Given the description of an element on the screen output the (x, y) to click on. 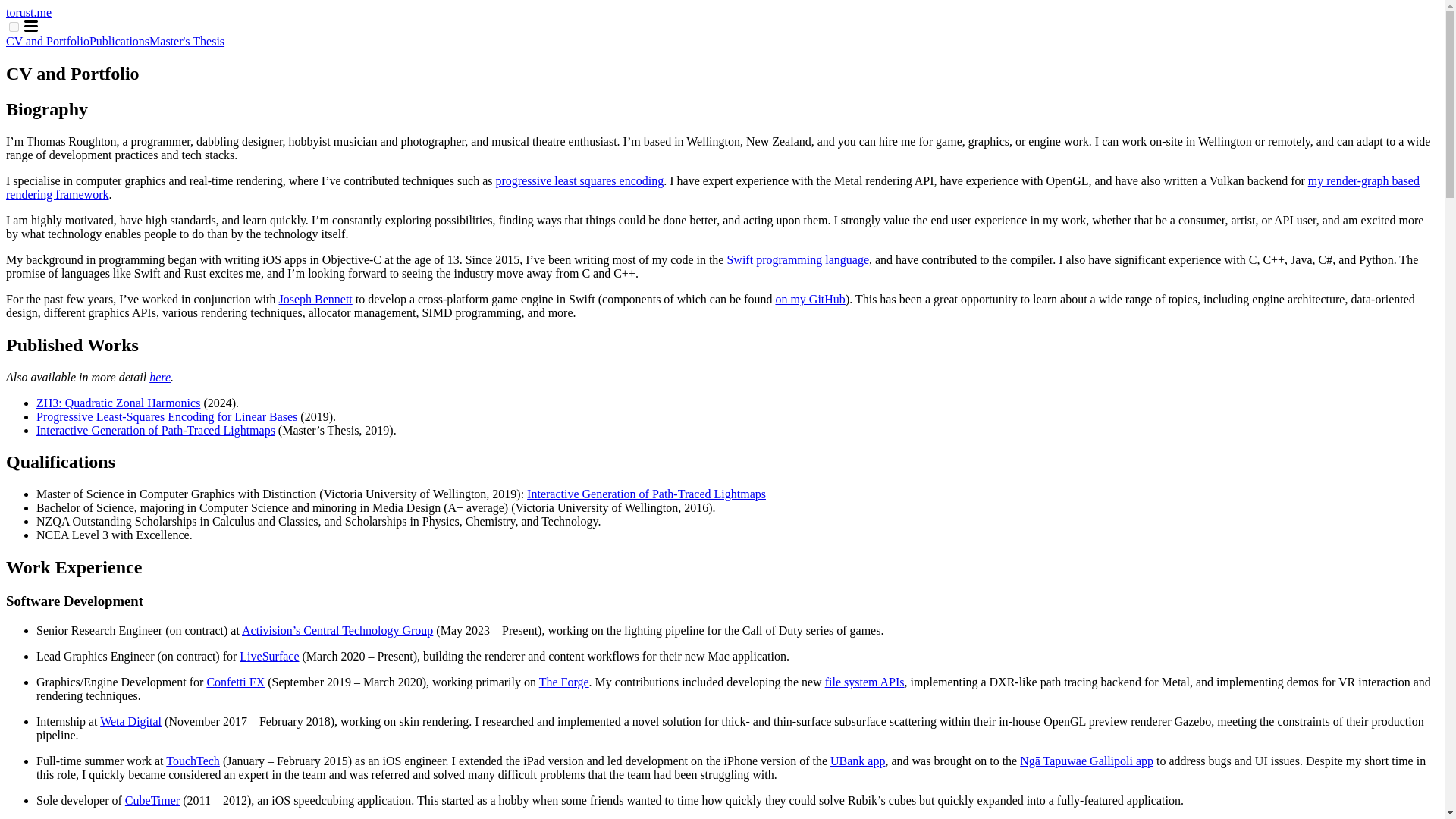
my render-graph based rendering framework (712, 187)
torust.me (27, 11)
CV and Portfolio (46, 41)
Publications (118, 41)
LiveSurface (269, 656)
Interactive Generation of Path-Traced Lightmaps (646, 493)
on (13, 26)
CubeTimer (152, 799)
here (159, 377)
Interactive Generation of Path-Traced Lightmaps (155, 430)
file system APIs (864, 681)
The Forge (563, 681)
on my GitHub (809, 298)
Progressive Least-Squares Encoding for Linear Bases (166, 416)
TouchTech (192, 760)
